Given the description of an element on the screen output the (x, y) to click on. 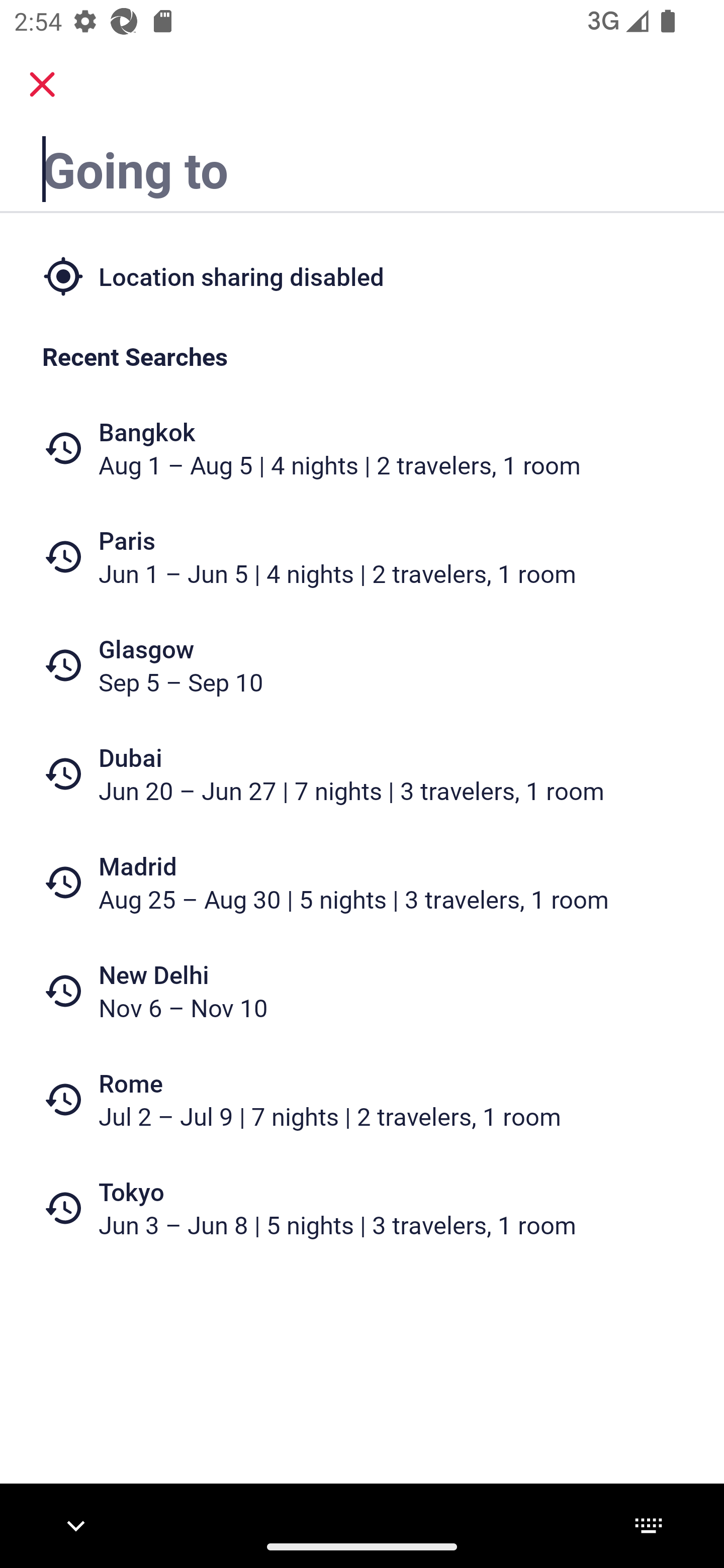
close. (42, 84)
Location sharing disabled (362, 275)
Glasgow Sep 5 – Sep 10 (362, 665)
New Delhi Nov 6 – Nov 10 (362, 990)
